Given the description of an element on the screen output the (x, y) to click on. 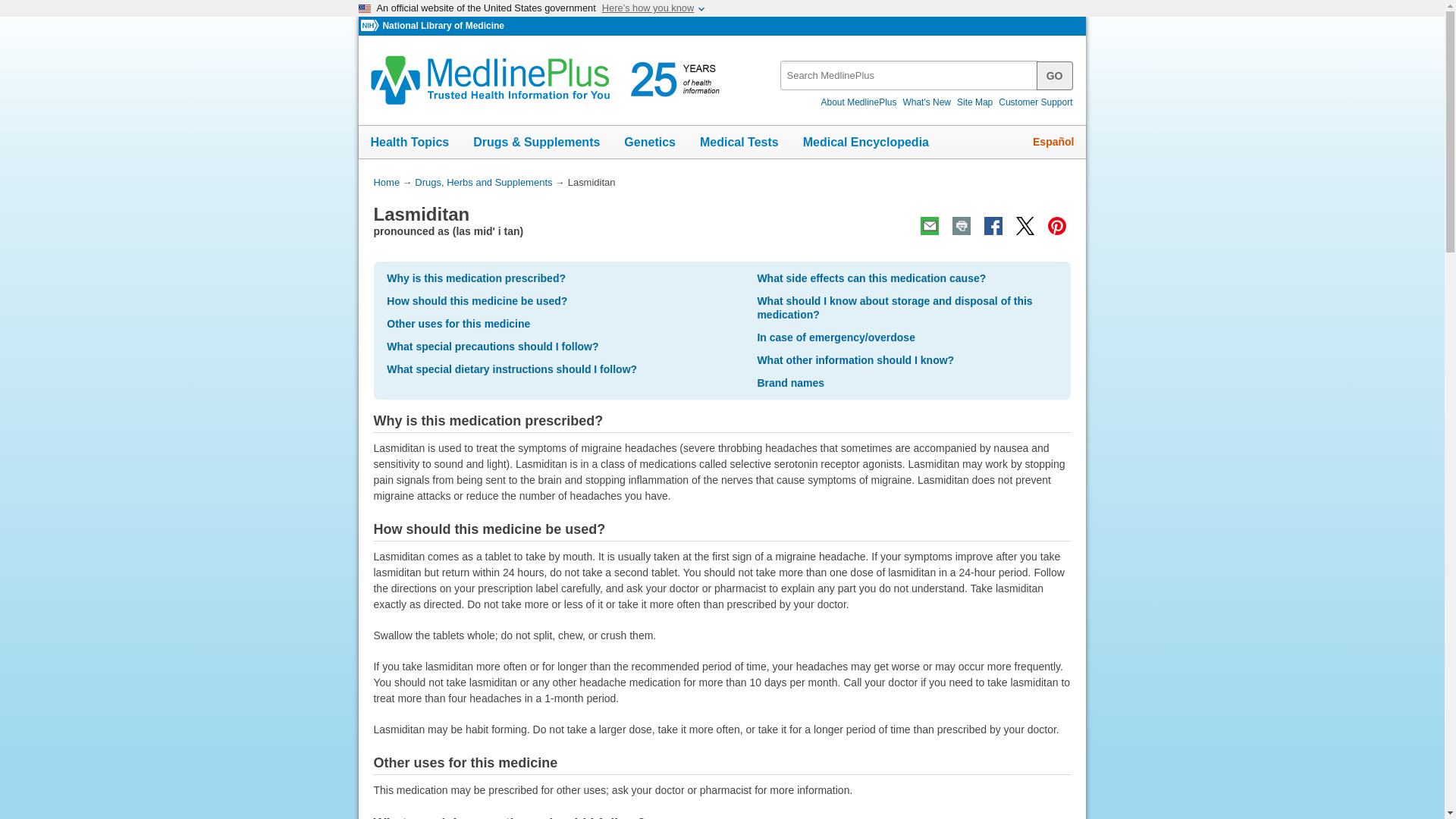
Pinterest (1056, 225)
Facebook (992, 225)
Search MedlinePlus (921, 69)
Search MedlinePlus (1054, 74)
What special dietary instructions should I follow? (512, 369)
Home (385, 182)
GO (1054, 74)
National Institutes of Health (371, 26)
Customer Support (1035, 102)
Email this page to a friend (929, 225)
